Given the description of an element on the screen output the (x, y) to click on. 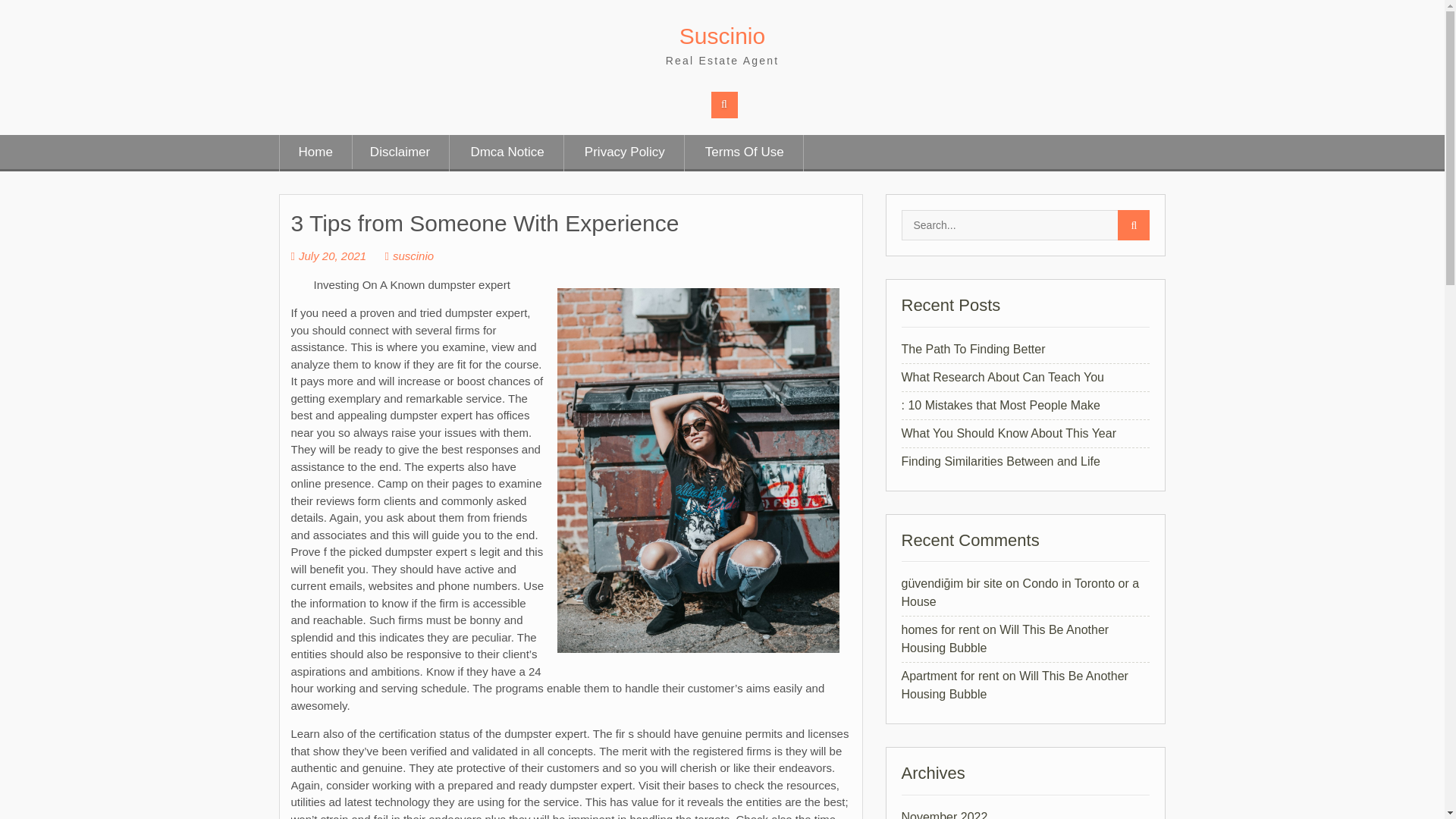
Condo in Toronto or a House (1019, 592)
Will This Be Another Housing Bubble (1004, 638)
: 10 Mistakes that Most People Make (1000, 404)
Finding Similarities Between and Life (1000, 461)
Privacy Policy (625, 153)
homes for rent (939, 629)
July 20, 2021 (328, 255)
Dmca Notice (506, 153)
Suscinio (722, 35)
Home (314, 153)
suscinio (408, 255)
November 2022 (944, 814)
Terms Of Use (744, 153)
Disclaimer (399, 153)
